Given the description of an element on the screen output the (x, y) to click on. 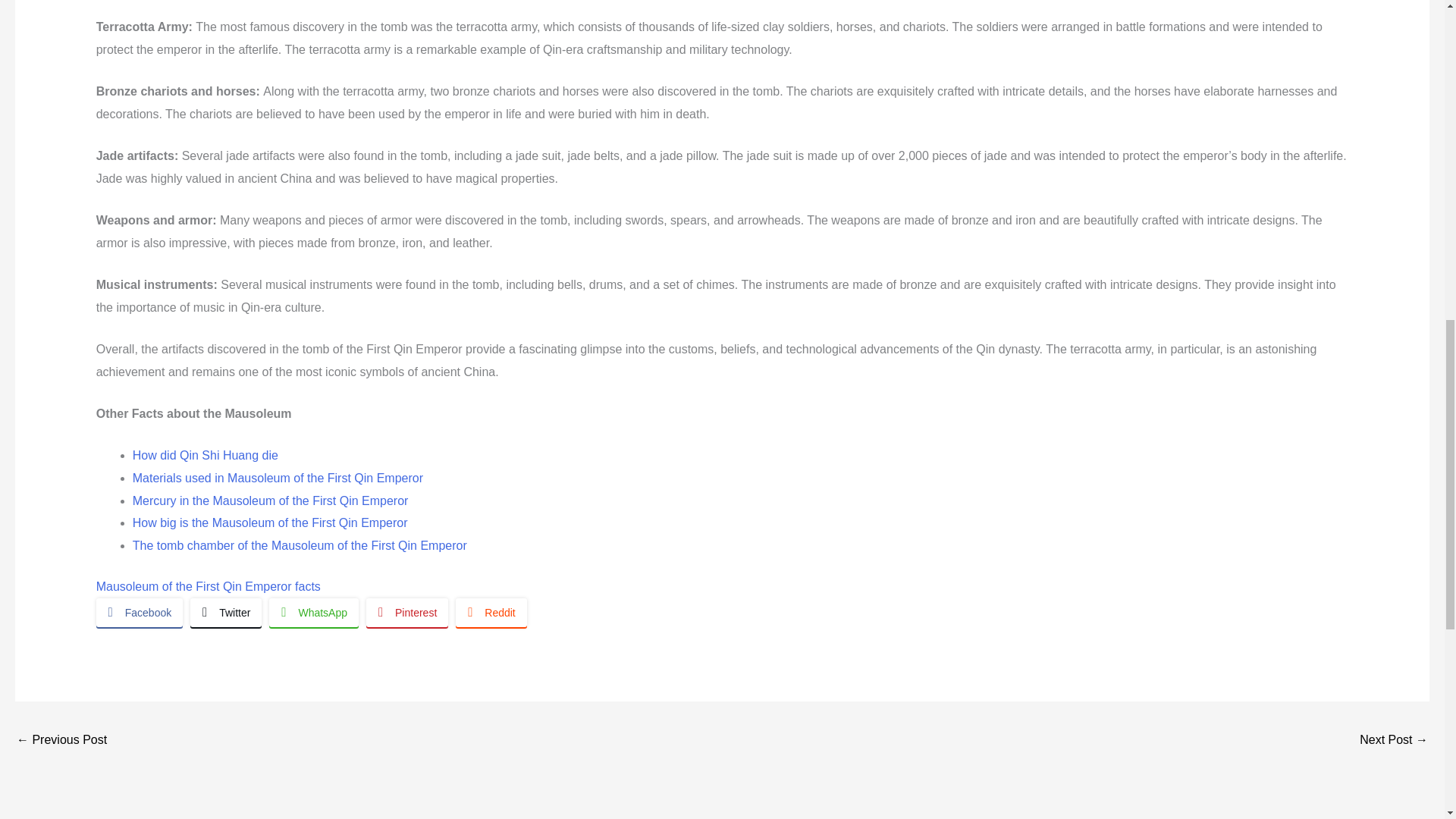
Emperor Wu of Han - The conqueror (1393, 741)
